Given the description of an element on the screen output the (x, y) to click on. 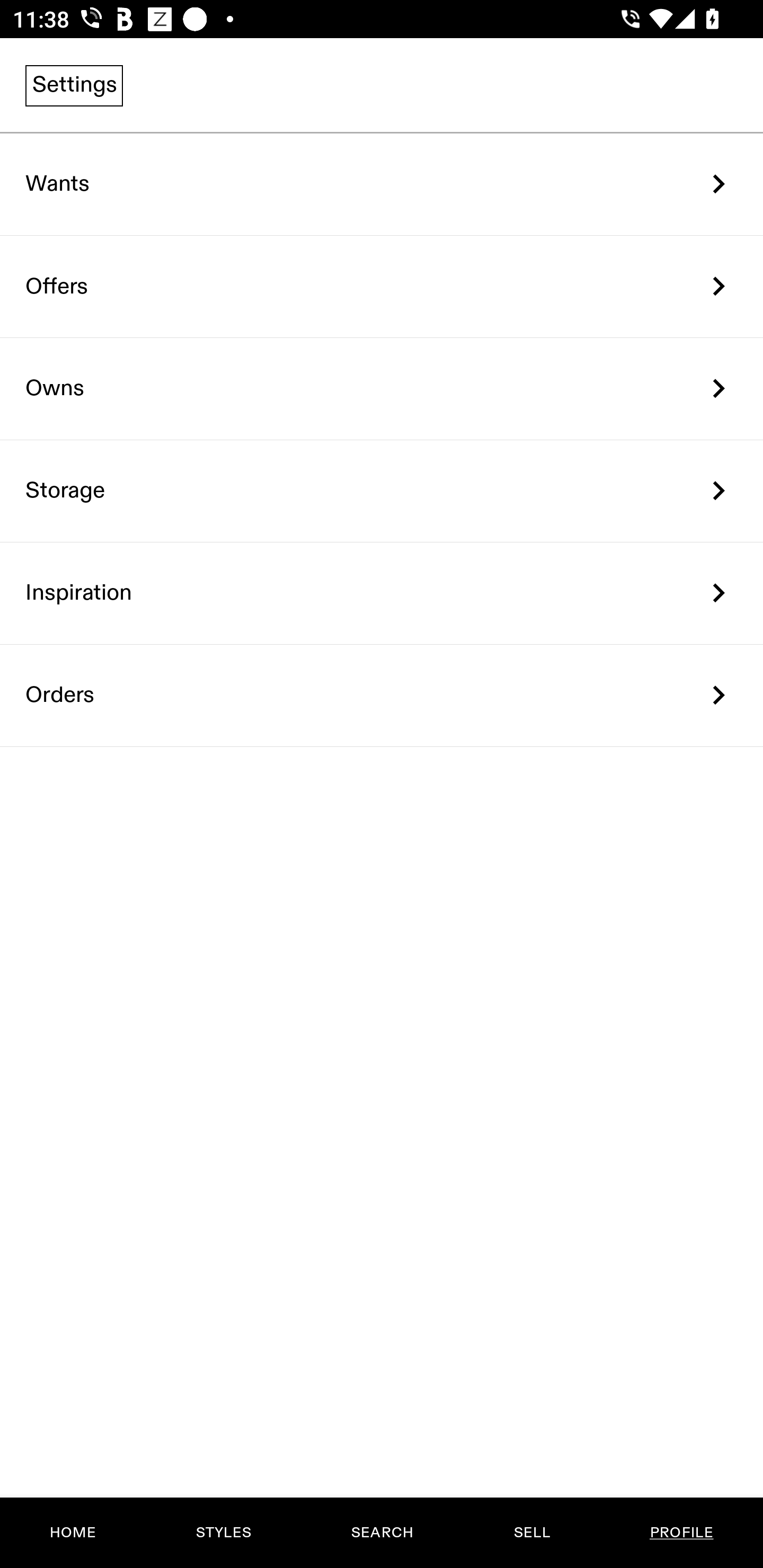
Settings (73, 85)
Wants (381, 184)
Offers (381, 286)
Owns (381, 388)
Storage (381, 491)
Inspiration (381, 593)
Orders (381, 695)
HOME (72, 1532)
STYLES (222, 1532)
SEARCH (381, 1532)
SELL (531, 1532)
PROFILE (681, 1532)
